Given the description of an element on the screen output the (x, y) to click on. 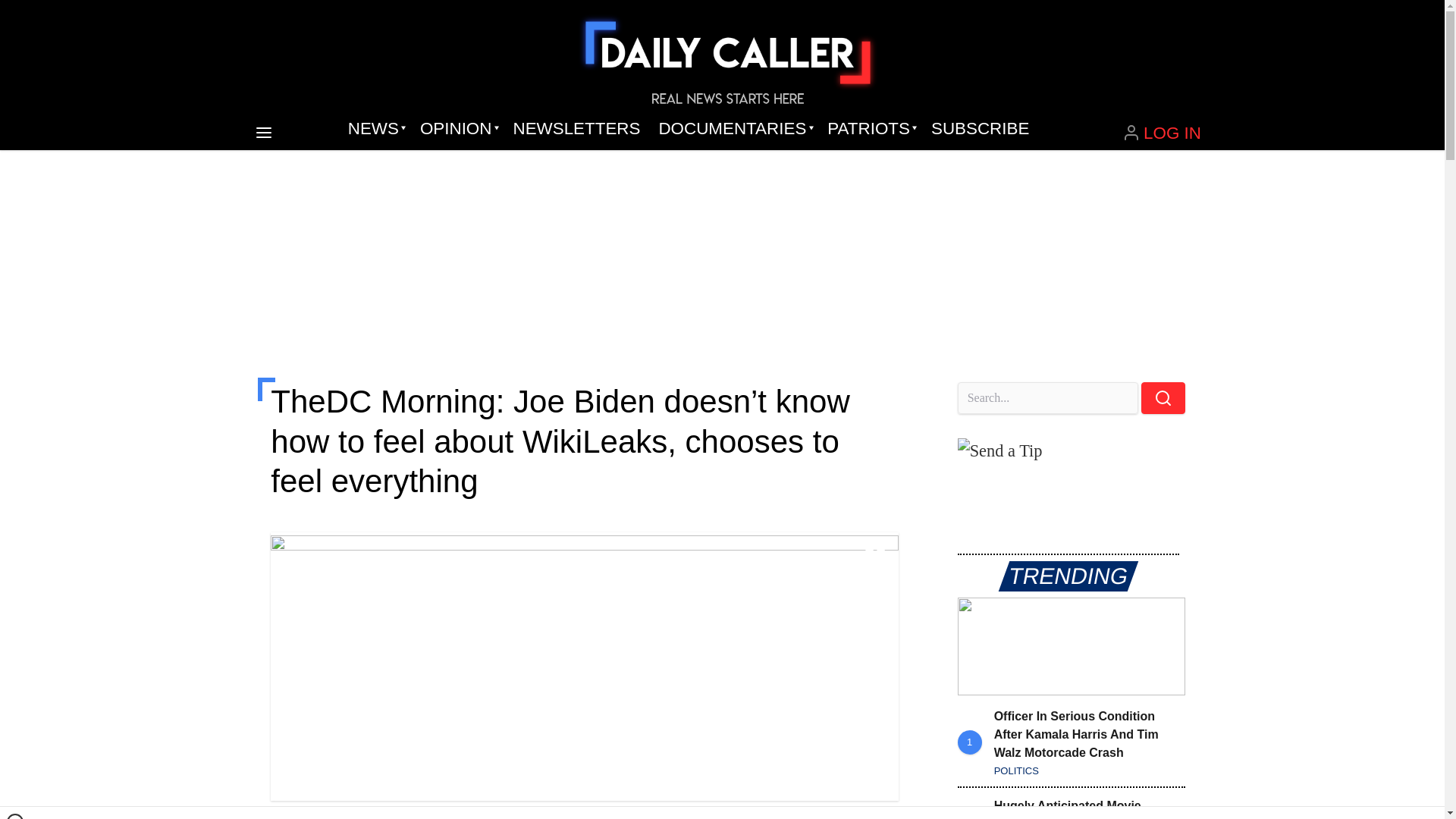
NEWS (374, 128)
Toggle fullscreen (874, 555)
DOCUMENTARIES (733, 128)
NEWSLETTERS (576, 128)
SUBSCRIBE (979, 128)
PATRIOTS (869, 128)
OPINION (456, 128)
Close window (14, 816)
